Given the description of an element on the screen output the (x, y) to click on. 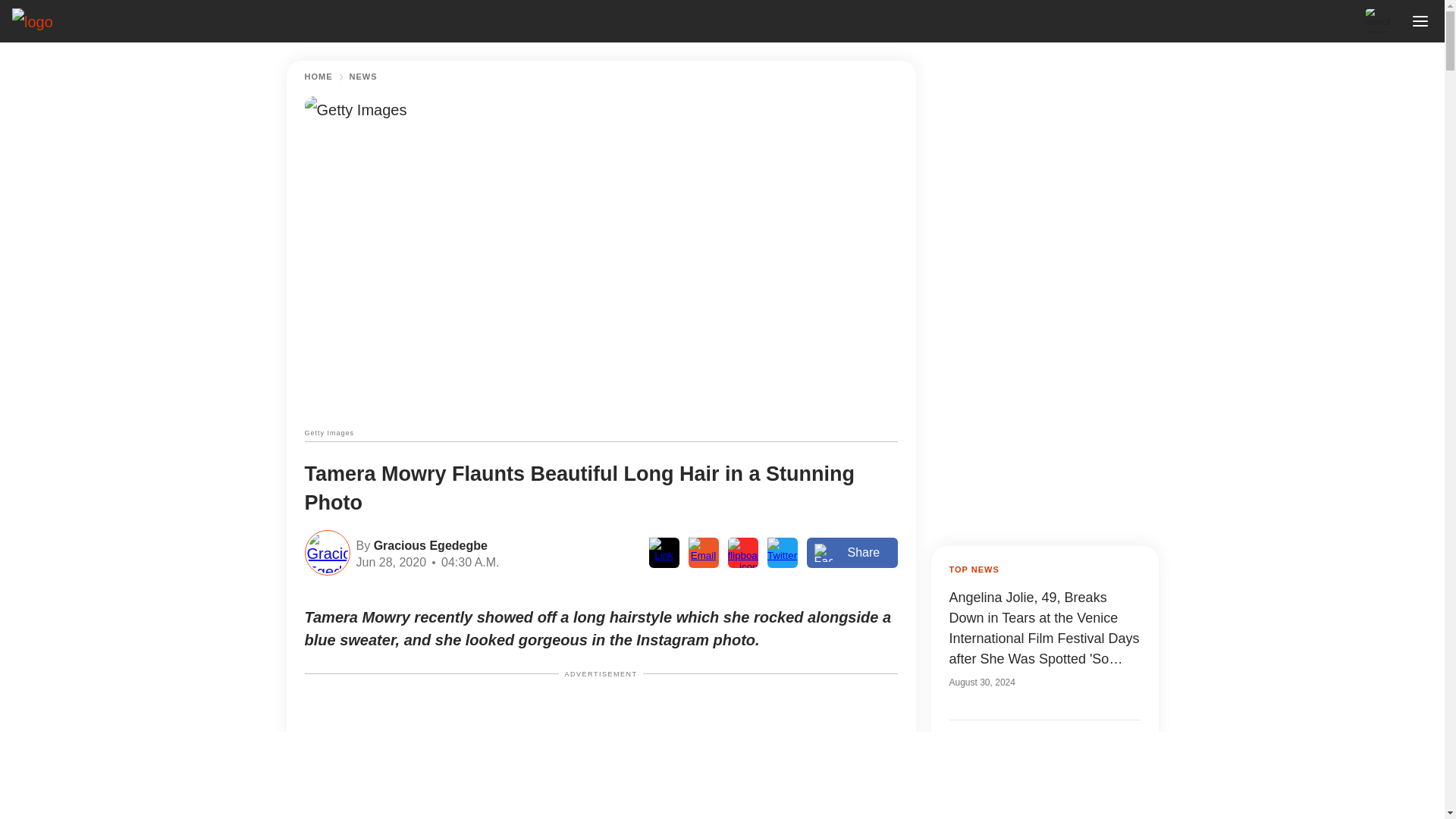
Gracious Egedegbe (428, 544)
NEWS (363, 76)
HOME (318, 76)
